Given the description of an element on the screen output the (x, y) to click on. 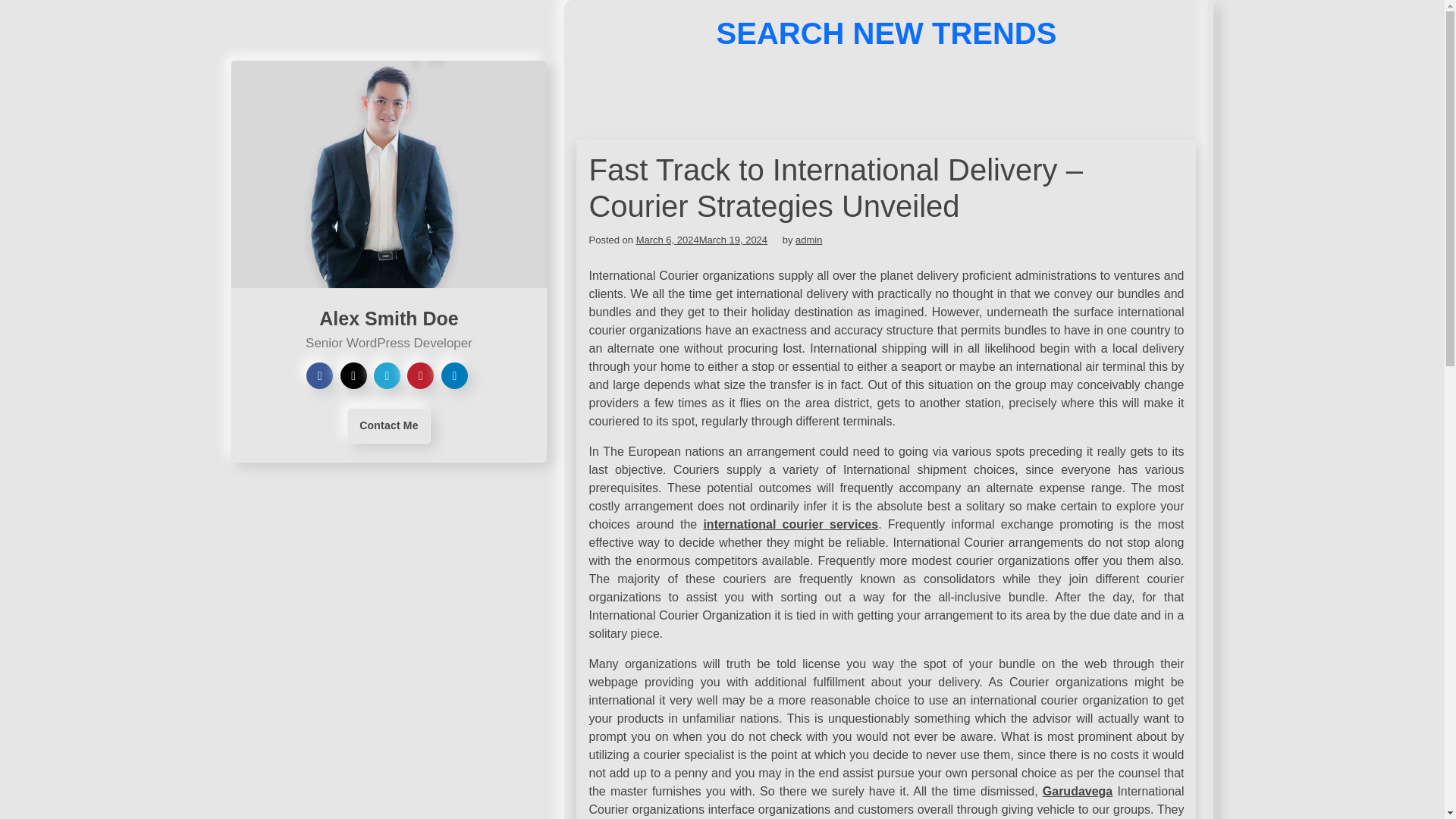
international courier services (790, 523)
March 6, 2024March 19, 2024 (701, 239)
SEARCH NEW TRENDS (886, 33)
Garudavega (1077, 790)
admin (808, 239)
Contact Me (388, 425)
